Given the description of an element on the screen output the (x, y) to click on. 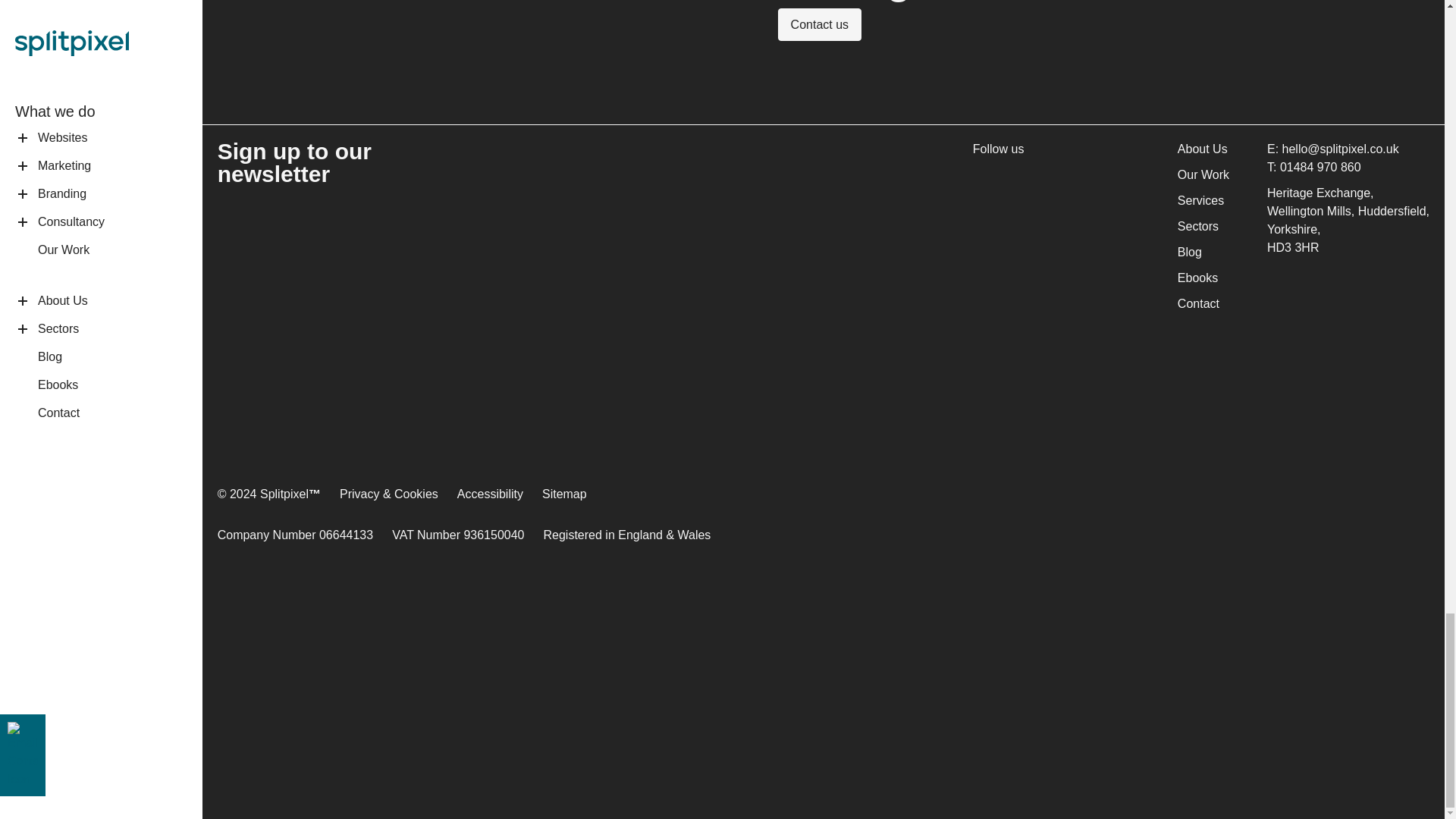
View our Ecologi profile (1292, 602)
